Given the description of an element on the screen output the (x, y) to click on. 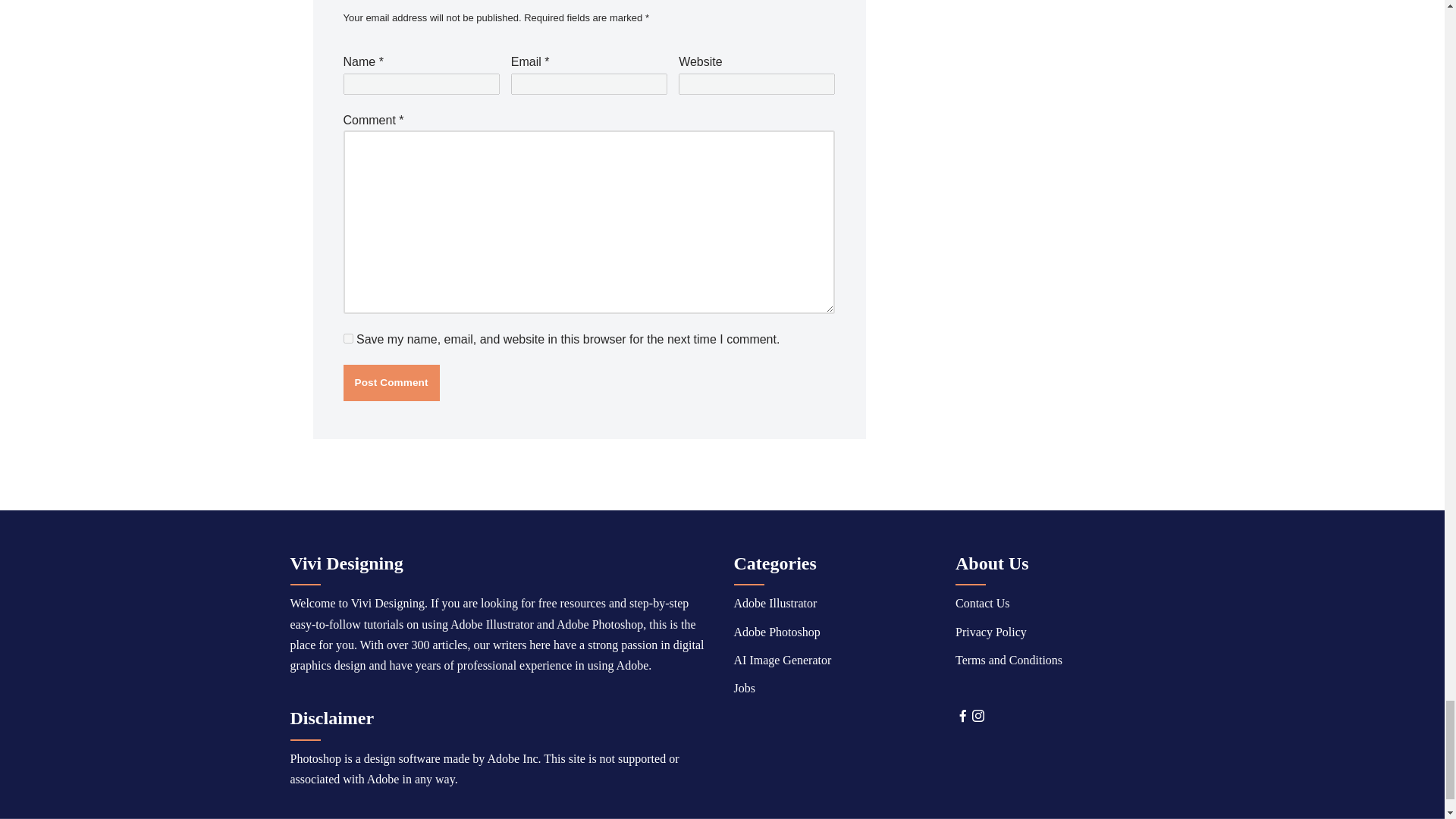
yes (347, 338)
Post Comment (390, 382)
